Given the description of an element on the screen output the (x, y) to click on. 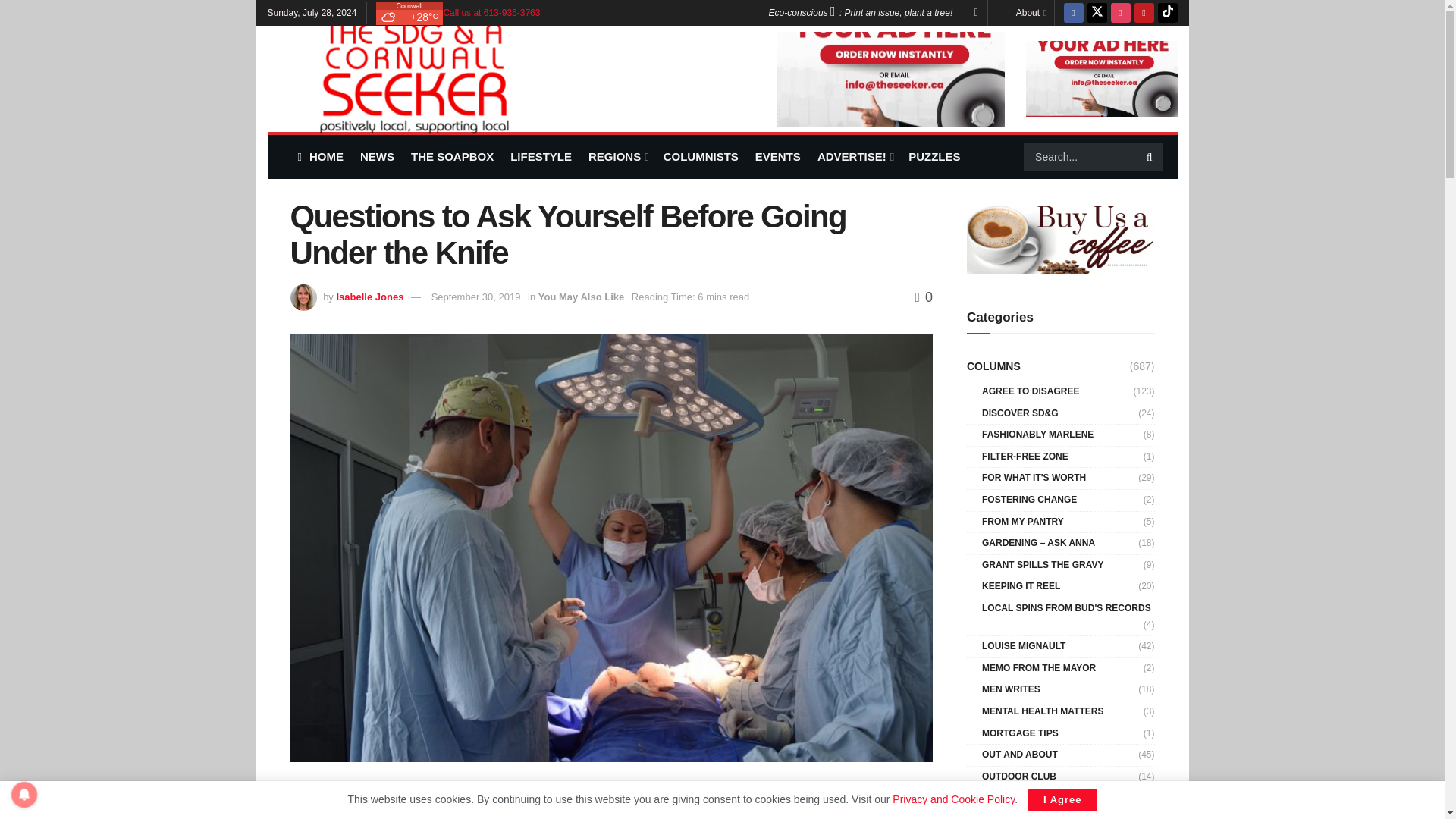
REGIONS (617, 156)
ADVERTISE! (853, 156)
About (1030, 12)
HOME (319, 156)
NEWS (376, 156)
COLUMNISTS (700, 156)
LIFESTYLE (541, 156)
Call us at 613-935-3763 (491, 12)
EVENTS (777, 156)
PUZZLES (933, 156)
THE SOAPBOX (451, 156)
